Given the description of an element on the screen output the (x, y) to click on. 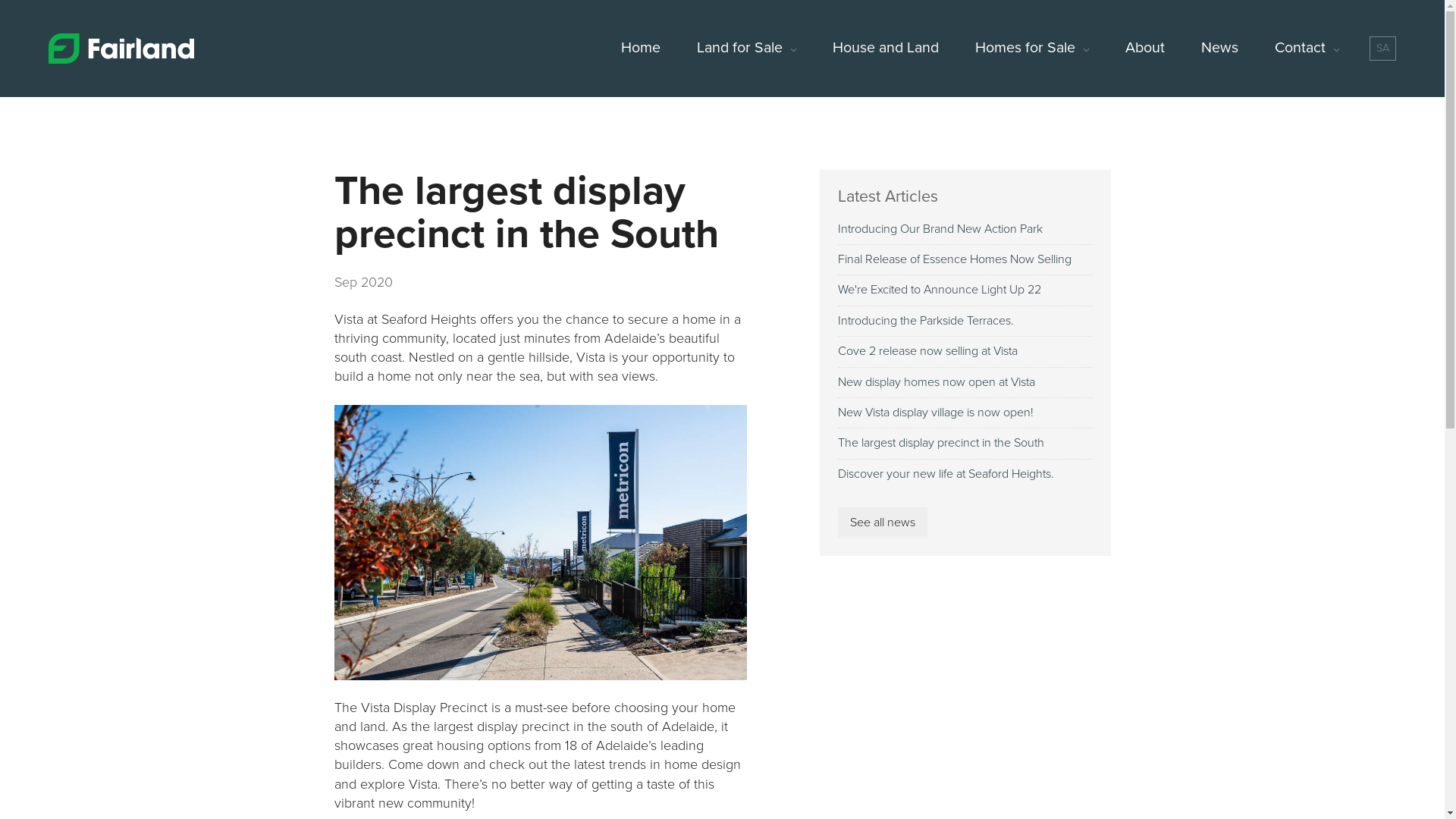
House and Land Element type: text (885, 48)
Discover your new life at Seaford Heights. Element type: text (964, 474)
The largest display precinct in the South Element type: text (964, 443)
Homes for Sale Element type: text (1032, 48)
Final Release of Essence Homes Now Selling Element type: text (964, 259)
Home Element type: text (640, 48)
Land for Sale Element type: text (746, 48)
Contact Element type: text (1306, 48)
We're Excited to Announce Light Up 22 Element type: text (964, 289)
SA Element type: text (1382, 48)
News Element type: text (1219, 48)
Cove 2 release now selling at Vista Element type: text (964, 351)
About Element type: text (1145, 48)
New display homes now open at Vista Element type: text (964, 382)
See all news Element type: text (881, 522)
Introducing the Parkside Terraces. Element type: text (964, 320)
Introducing Our Brand New Action Park Element type: text (964, 229)
New Vista display village is now open! Element type: text (964, 412)
